Given the description of an element on the screen output the (x, y) to click on. 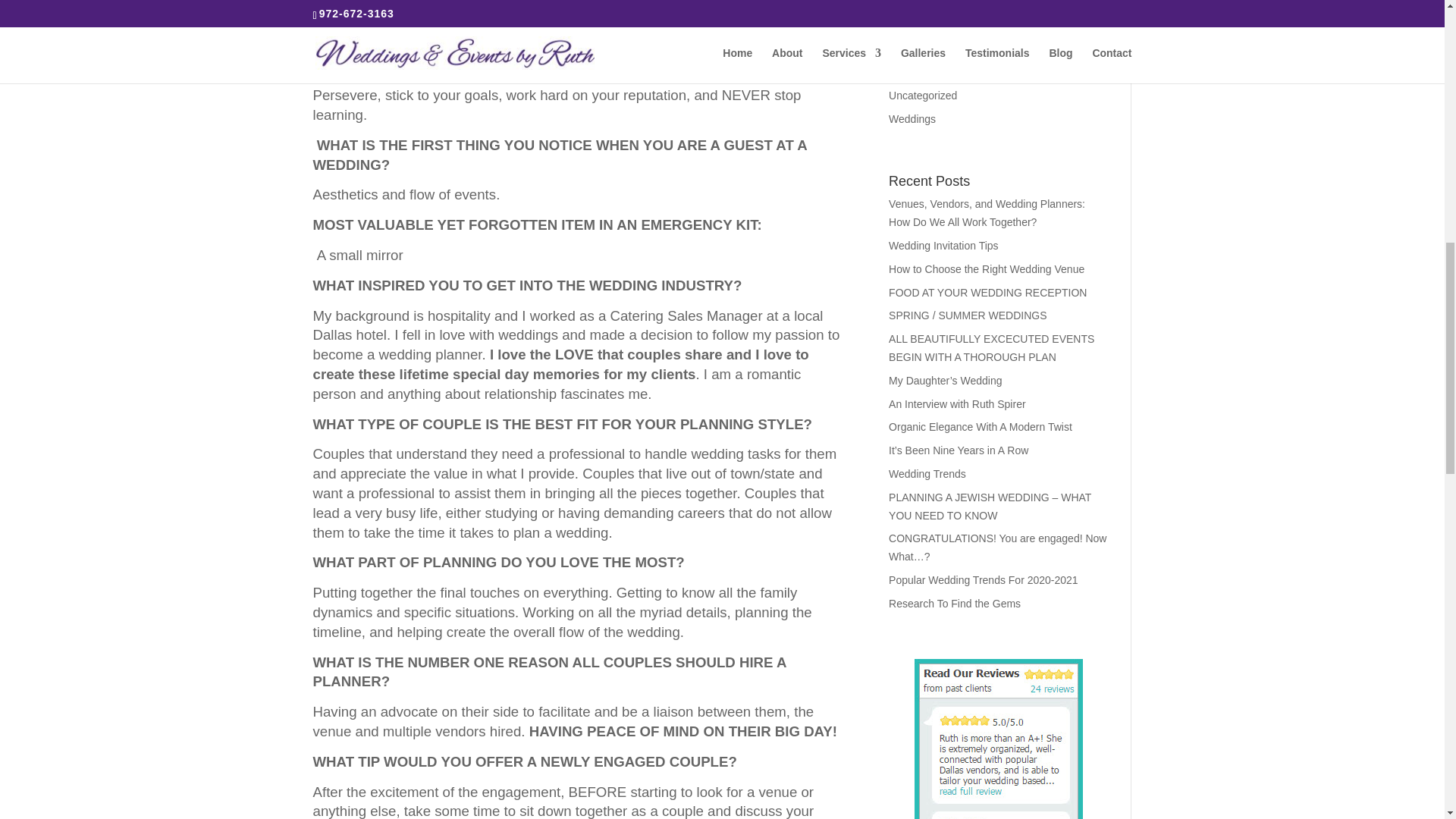
Jewish Wedding (927, 49)
Events (904, 25)
Organic Elegance With A Modern Twist (979, 426)
Weddings (912, 119)
ALL BEAUTIFULLY EXCECUTED EVENTS BEGIN WITH A THOROUGH PLAN (991, 347)
News (901, 71)
An Interview with Ruth Spirer (957, 404)
FOOD AT YOUR WEDDING RECEPTION (987, 292)
How to Choose the Right Wedding Venue (986, 268)
Wedding Trends (927, 473)
